Given the description of an element on the screen output the (x, y) to click on. 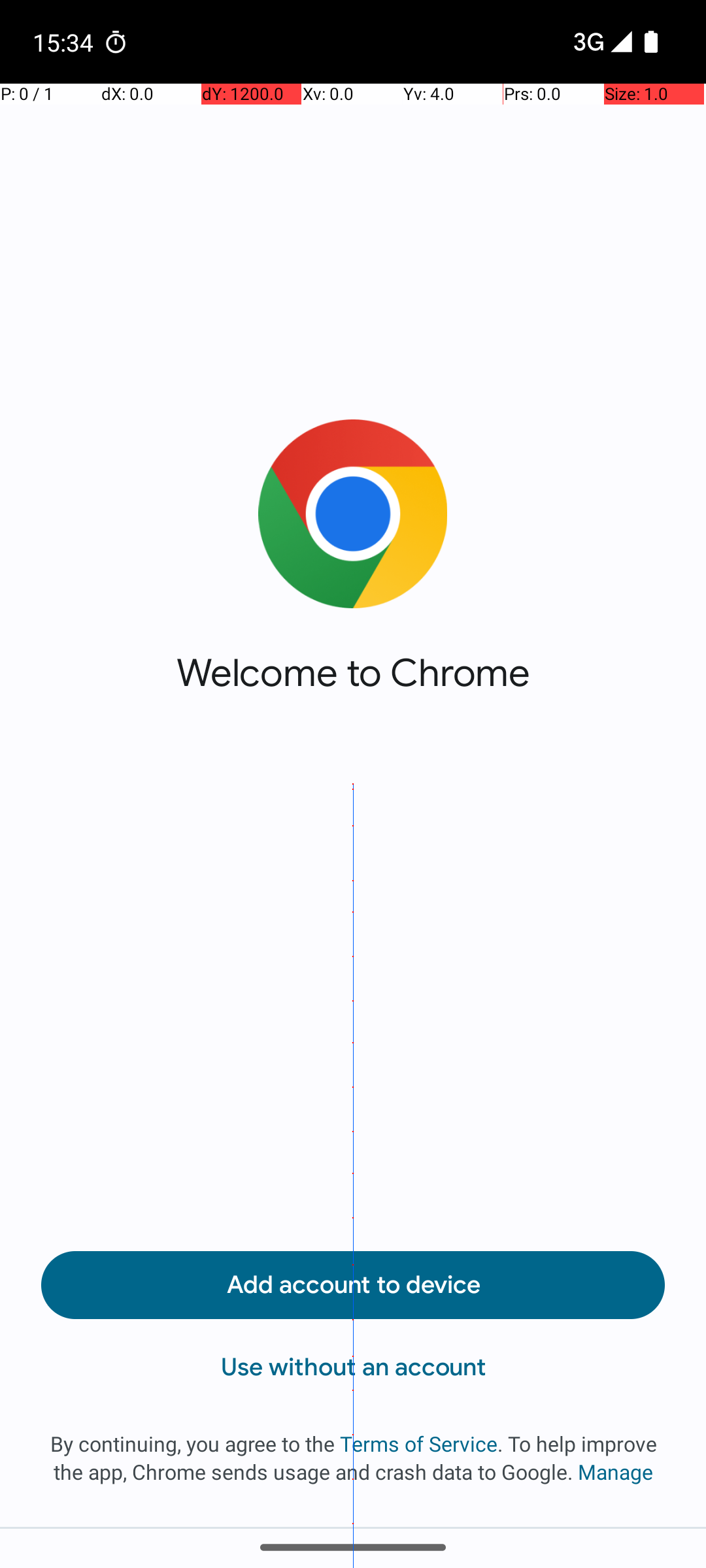
3G Element type: android.widget.ImageView (587, 41)
